Given the description of an element on the screen output the (x, y) to click on. 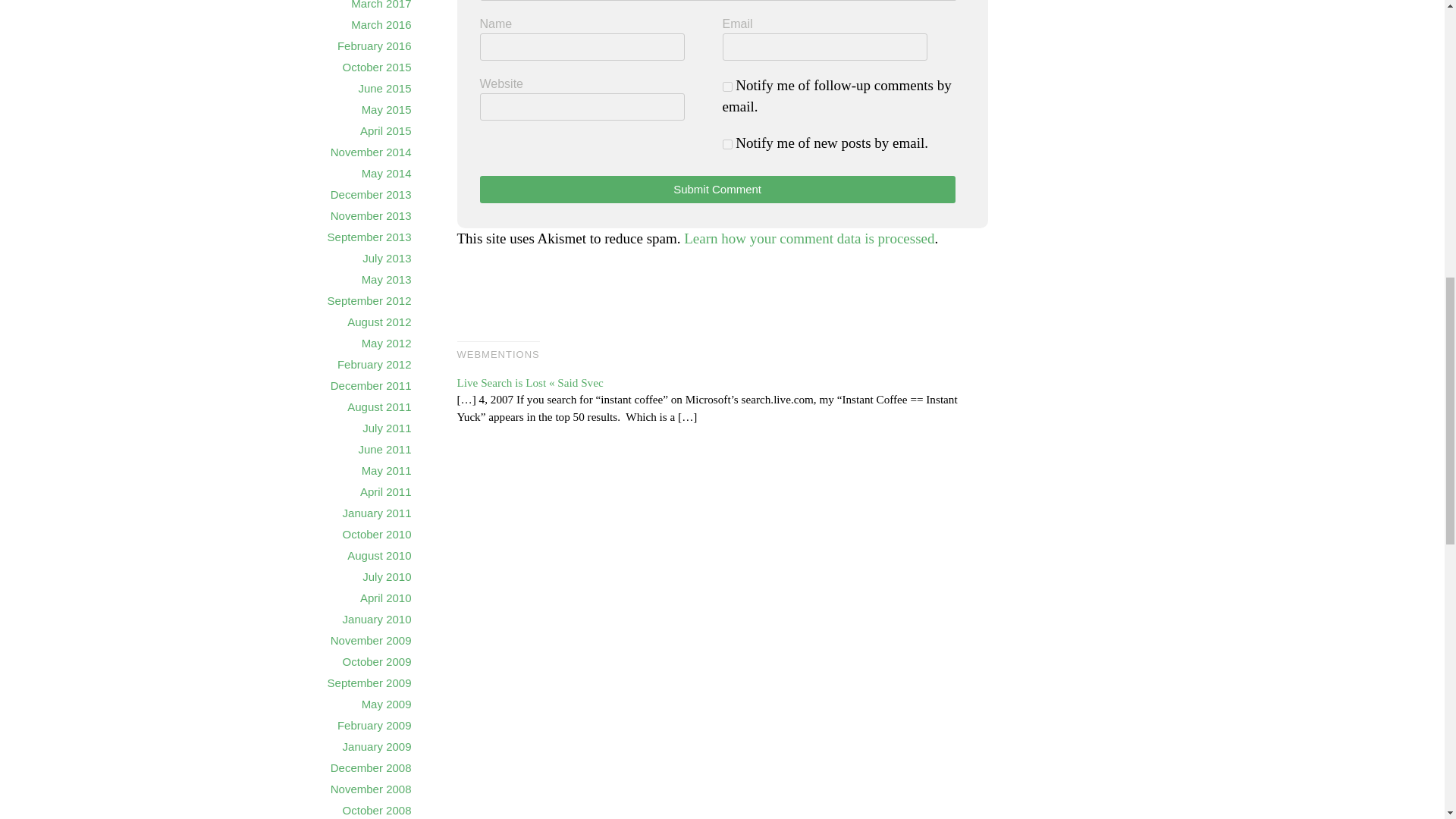
February 2016 (374, 45)
Learn how your comment data is processed (809, 238)
Submit Comment (717, 189)
May 2014 (386, 173)
May 2015 (386, 109)
October 2015 (377, 66)
September 2013 (369, 236)
December 2013 (371, 194)
November 2013 (371, 215)
subscribe (727, 86)
